Given the description of an element on the screen output the (x, y) to click on. 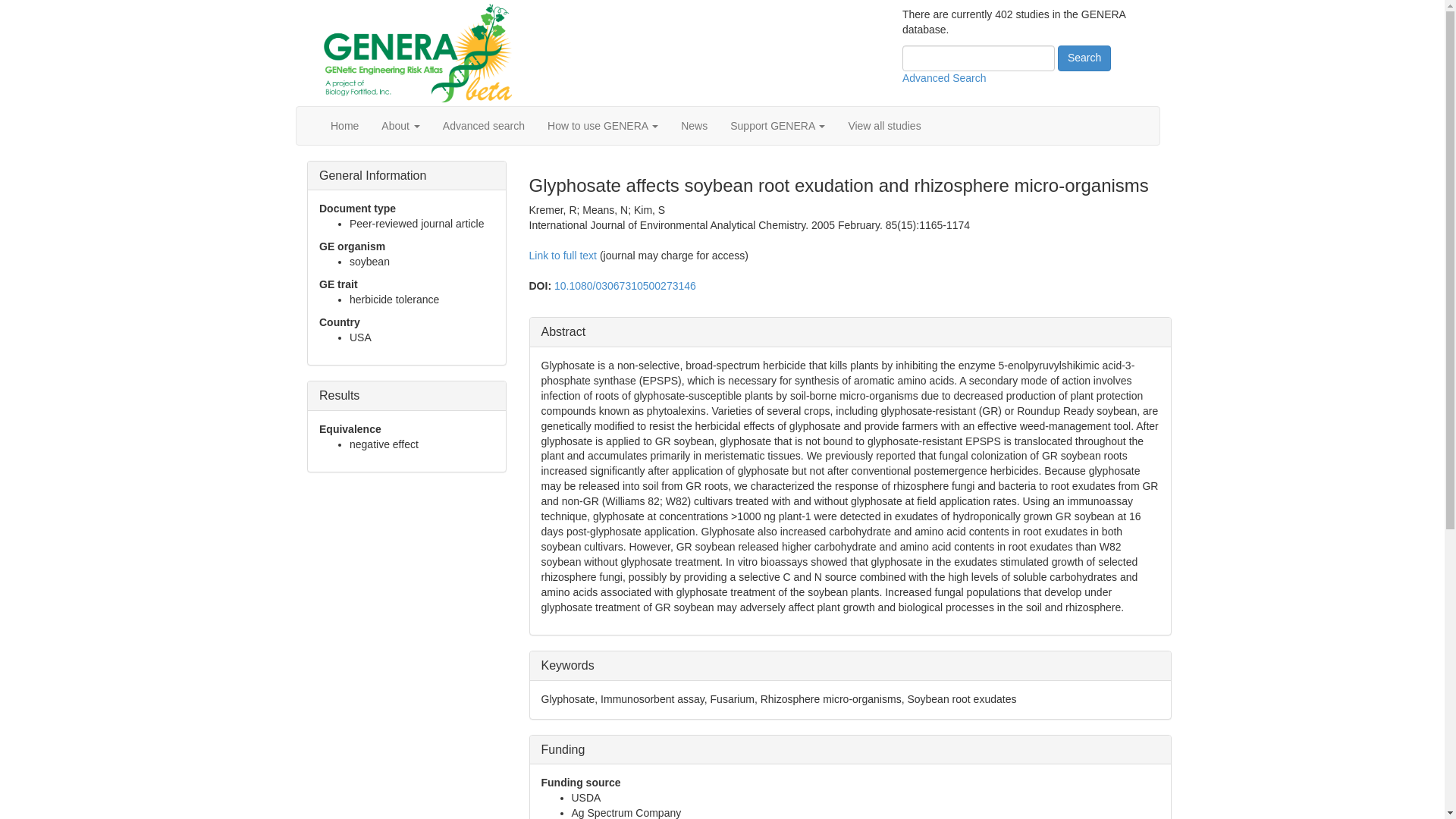
Advanced search (482, 125)
News (694, 125)
Advanced Search (944, 78)
View all studies (883, 125)
How to use GENERA (602, 125)
About (399, 125)
View all studies (883, 125)
About (399, 125)
Support GENERA (777, 125)
Advanced search (482, 125)
How to use GENERA (602, 125)
Support GENERA (777, 125)
Home (343, 125)
Search (1084, 58)
News (694, 125)
